Given the description of an element on the screen output the (x, y) to click on. 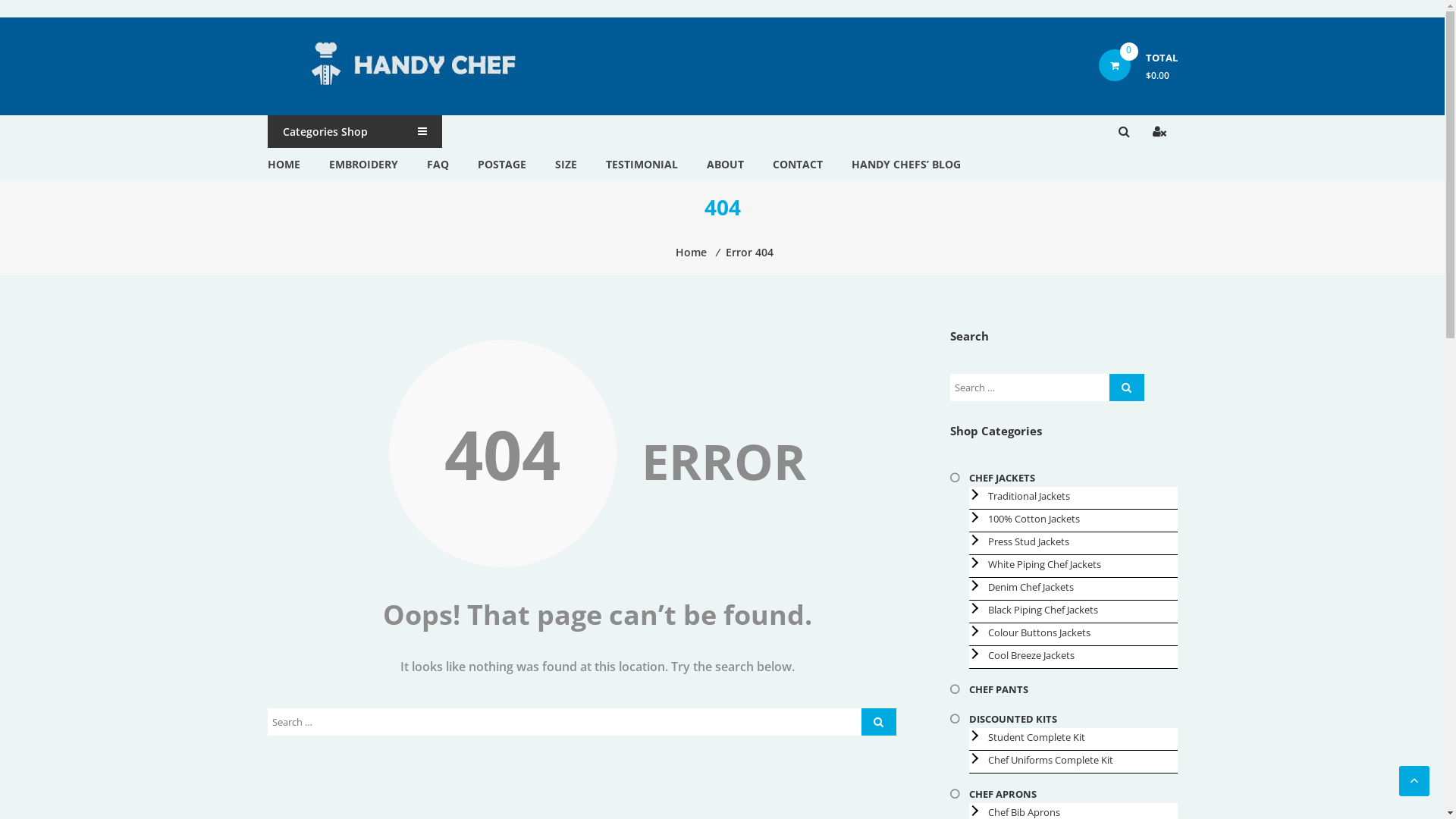
POSTAGE Element type: text (501, 163)
Chef Uniforms Complete Kit Element type: text (1049, 759)
TESTIMONIAL Element type: text (641, 163)
SIZE Element type: text (566, 163)
Press Stud Jackets Element type: text (1027, 541)
CHEF JACKETS Element type: text (1002, 477)
CHEF PANTS Element type: text (998, 689)
FAQ Element type: text (437, 163)
0 Element type: text (1113, 65)
Denim Chef Jackets Element type: text (1030, 586)
HOME Element type: text (282, 163)
DISCOUNTED KITS Element type: text (1013, 718)
Home Element type: text (690, 251)
Black Piping Chef Jackets Element type: text (1042, 609)
ABOUT Element type: text (724, 163)
Colour Buttons Jackets Element type: text (1038, 632)
CONTACT Element type: text (796, 163)
Student Complete Kit Element type: text (1035, 736)
White Piping Chef Jackets Element type: text (1043, 564)
Cool Breeze Jackets Element type: text (1030, 655)
Search Element type: text (1113, 180)
CHEF APRONS Element type: text (1002, 793)
100% Cotton Jackets Element type: text (1033, 518)
Handy Chef Uniforms Element type: text (316, 76)
Search Element type: text (1125, 387)
EMBROIDERY Element type: text (363, 163)
Search Element type: text (878, 721)
Traditional Jackets Element type: text (1028, 495)
